Given the description of an element on the screen output the (x, y) to click on. 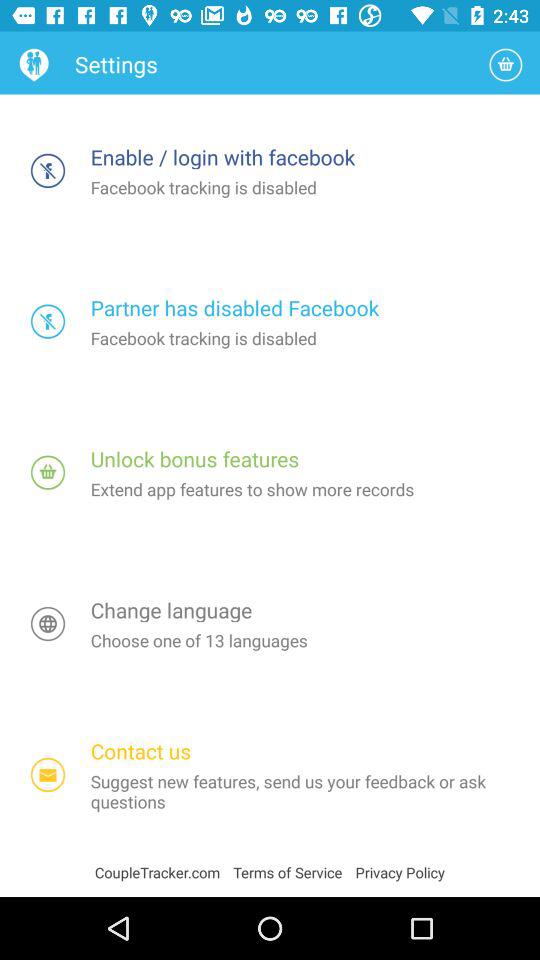
enable facebook login (47, 170)
